Given the description of an element on the screen output the (x, y) to click on. 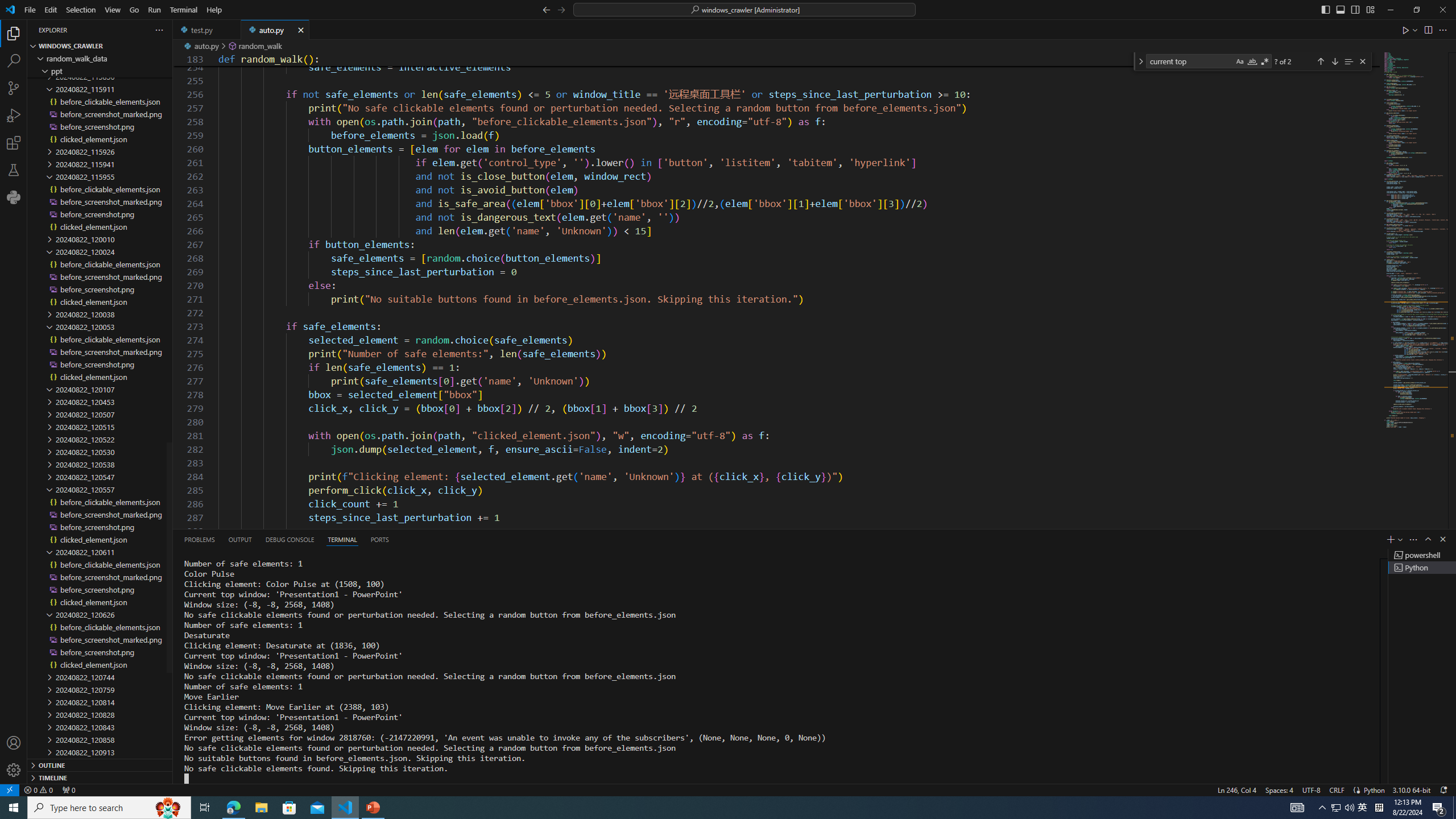
Terminal 1 powershell (1422, 554)
test.py (207, 29)
Find (1190, 60)
Explorer (Ctrl+Shift+E) (13, 33)
Next Match (Enter) (1333, 60)
Previous Match (Shift+Enter) (1320, 60)
Close (Ctrl+F4) (301, 29)
Terminal (183, 9)
Notifications (1443, 789)
Outline Section (99, 764)
